Given the description of an element on the screen output the (x, y) to click on. 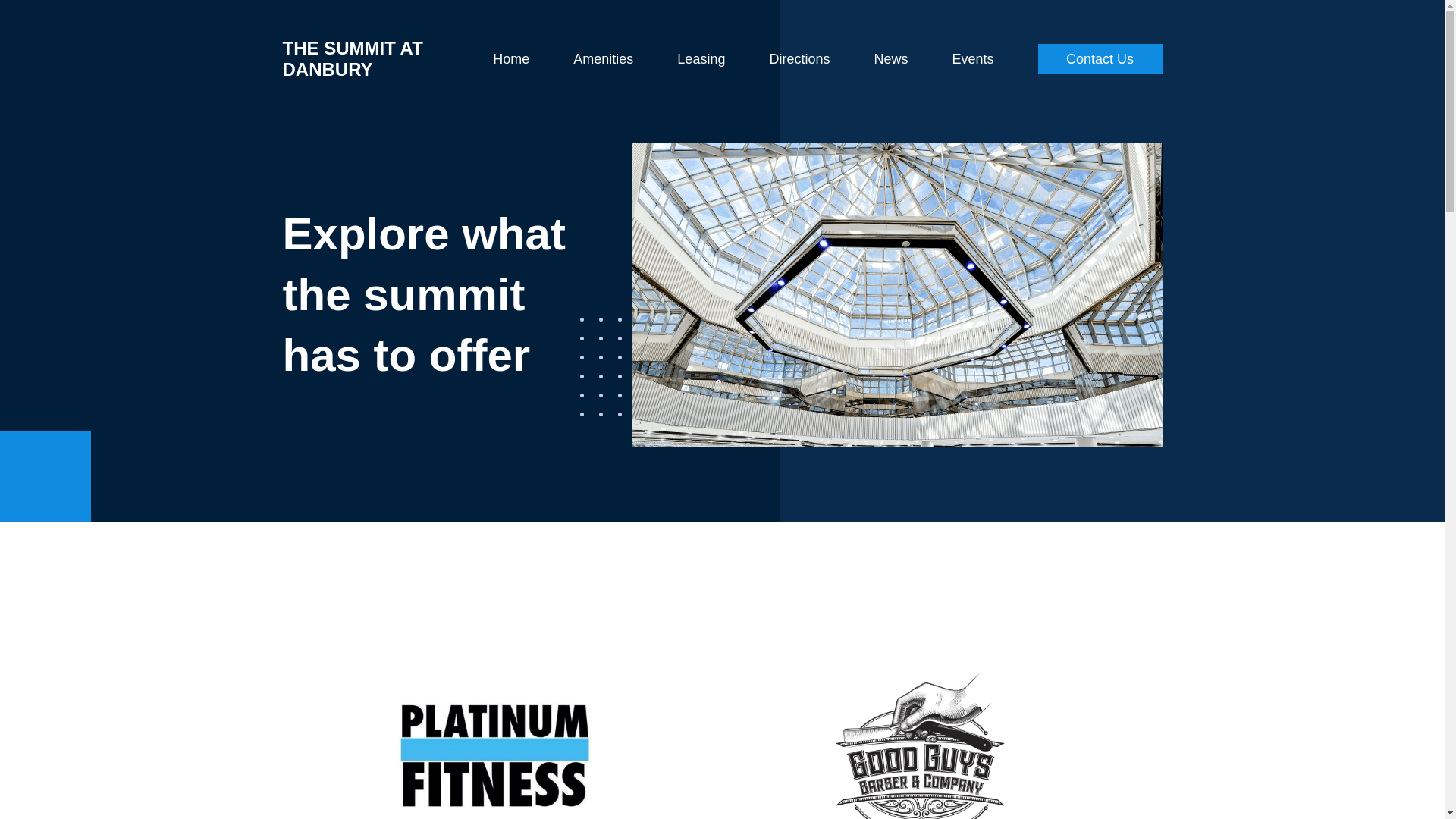
Leasing (701, 58)
Events (972, 58)
Directions (798, 58)
Contact Us (1098, 59)
Amenities (603, 58)
News (890, 58)
THE SUMMIT AT DANBURY (352, 58)
Home (511, 58)
